Given the description of an element on the screen output the (x, y) to click on. 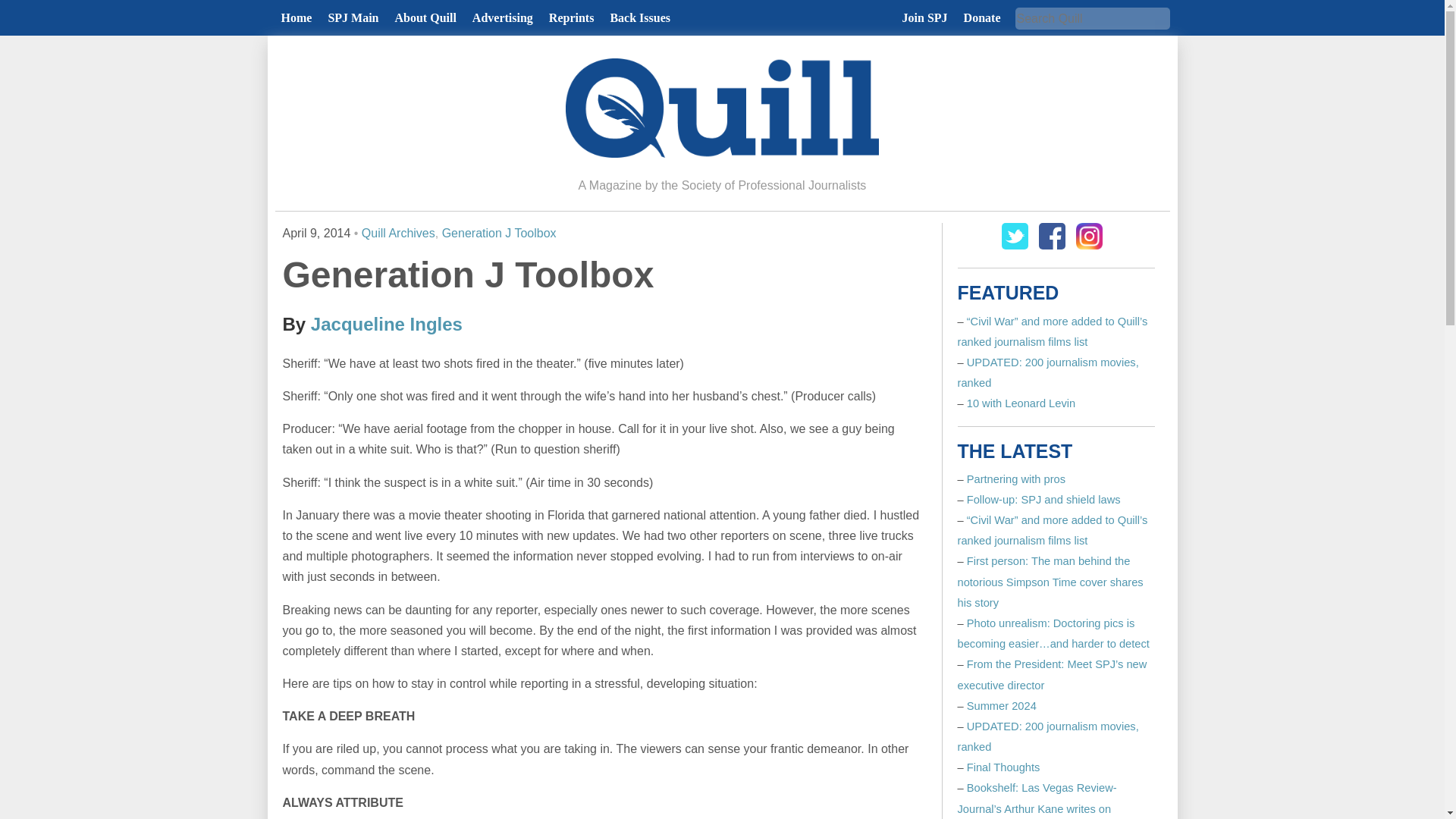
Jacqueline Ingles (387, 323)
Follow-up: SPJ and shield laws (1043, 499)
UPDATED: 200 journalism movies, ranked (1047, 372)
UPDATED: 200 journalism movies, ranked (1047, 736)
Generation J Toolbox (499, 232)
Partnering with pros (1015, 479)
Permanent link to UPDATED: 200 journalism movies, ranked (1047, 372)
About Quill (424, 17)
2014-04-09T00:00:00-0400 (316, 232)
